Given the description of an element on the screen output the (x, y) to click on. 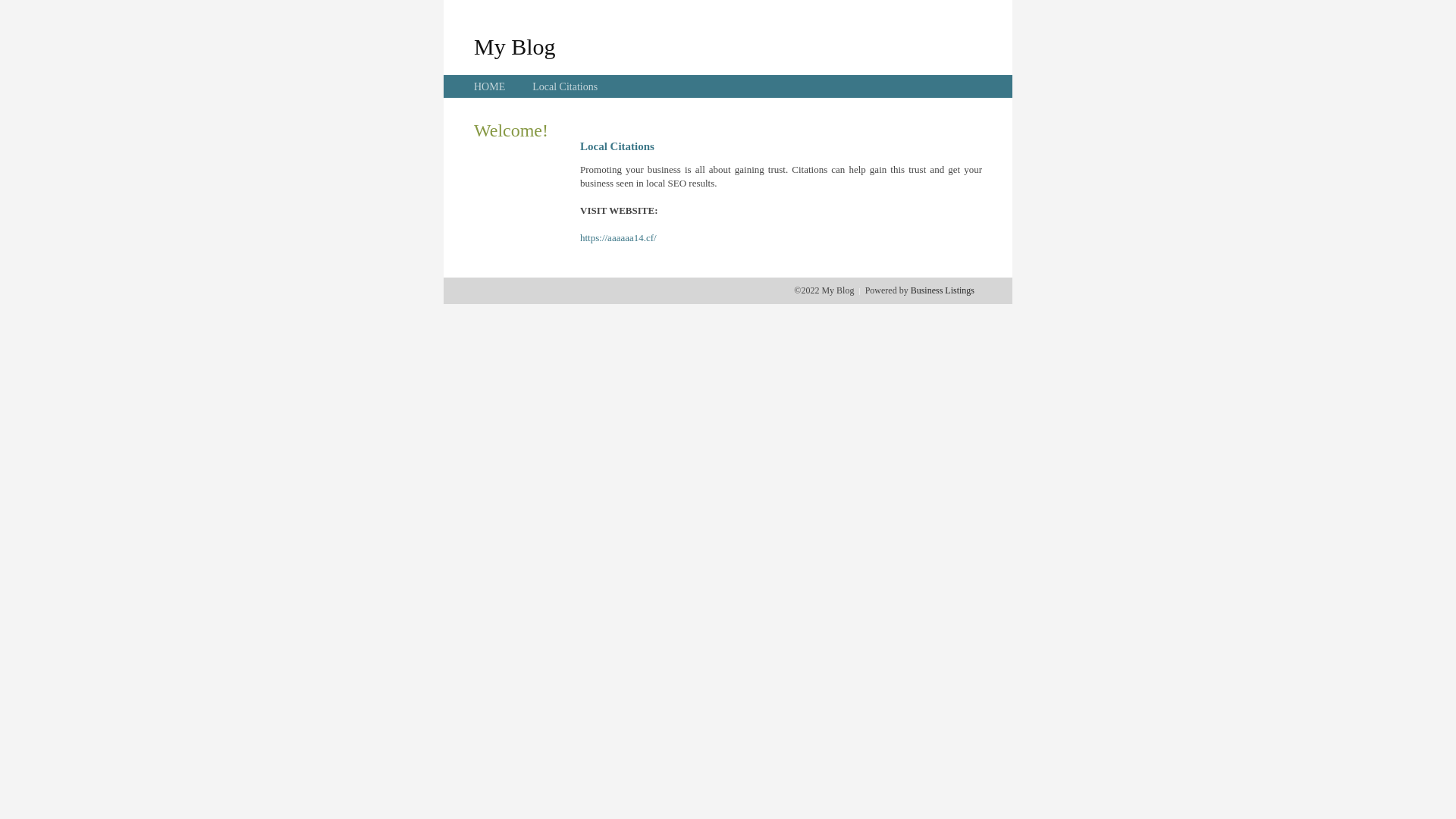
https://aaaaaa14.cf/ Element type: text (618, 237)
My Blog Element type: text (514, 46)
Business Listings Element type: text (942, 290)
HOME Element type: text (489, 86)
Local Citations Element type: text (564, 86)
